Given the description of an element on the screen output the (x, y) to click on. 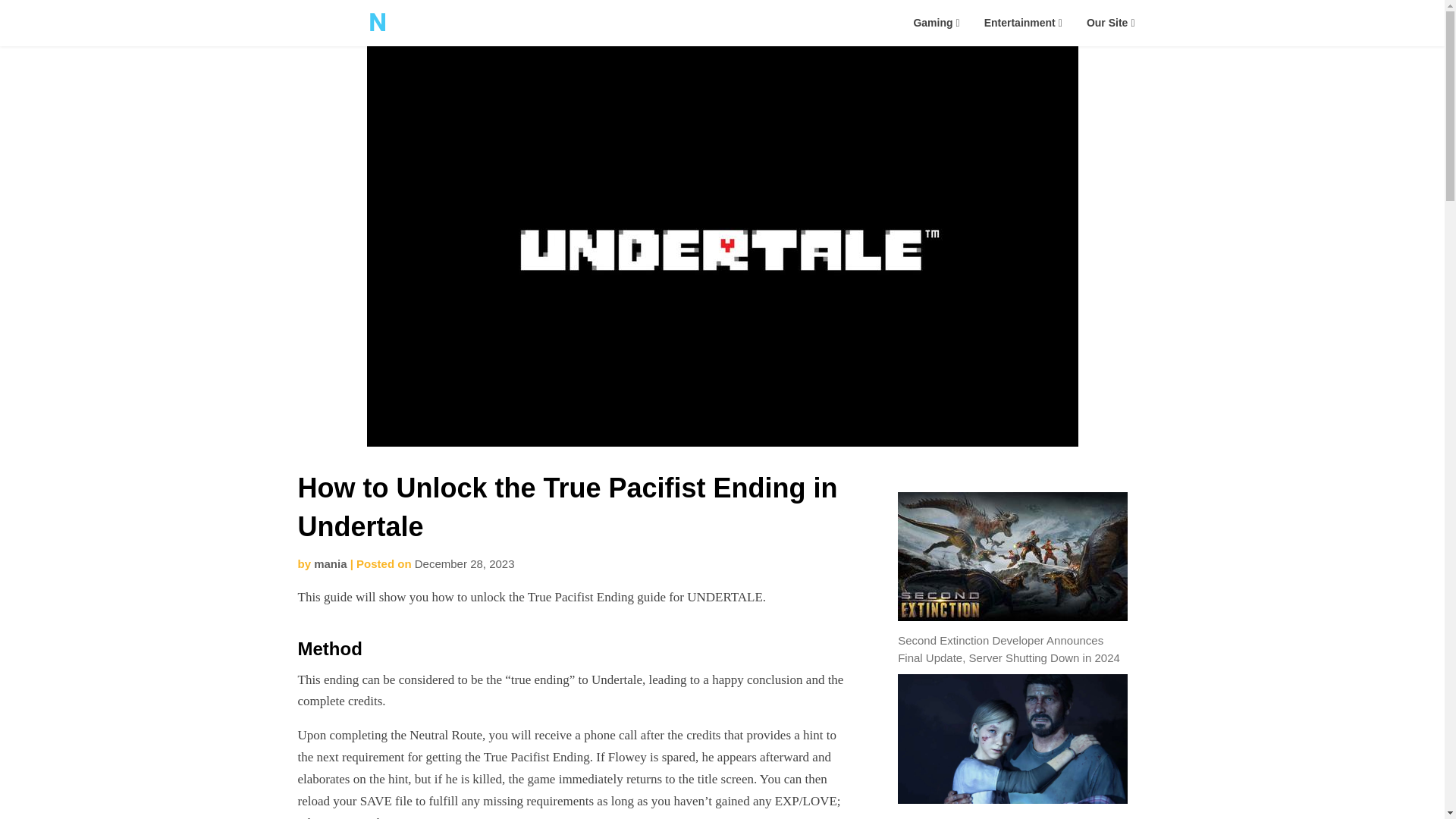
Gaming (936, 22)
Game N Guides (508, 43)
December 28, 2023 (464, 563)
Entertainment (1023, 22)
mania (330, 563)
Our Site (1110, 22)
